Given the description of an element on the screen output the (x, y) to click on. 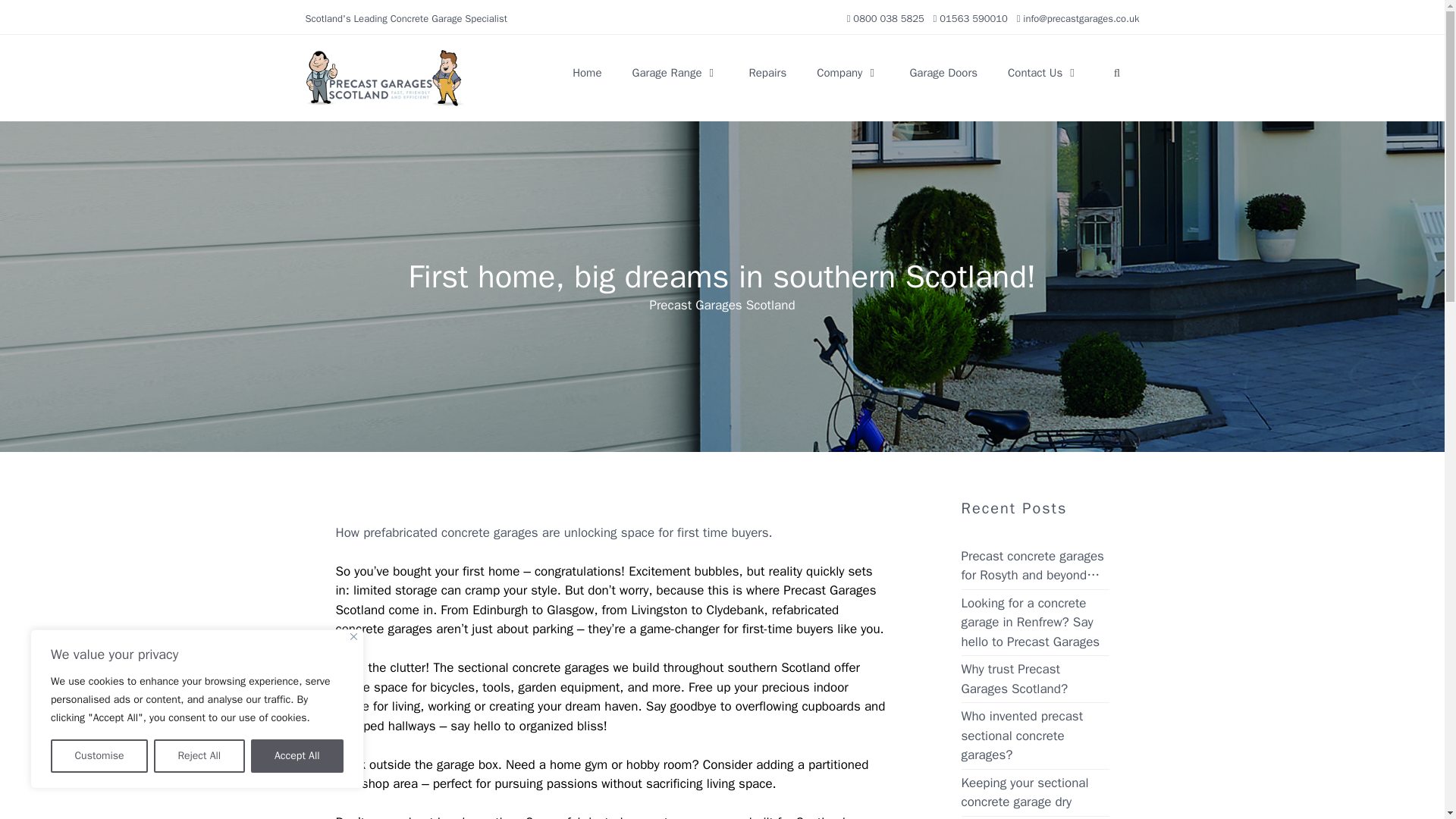
0800 038 5825 (888, 18)
01563 590010 (973, 18)
Garage Range (675, 72)
Home (586, 72)
Customise (99, 756)
Accept All (296, 756)
Reject All (199, 756)
Repairs (767, 72)
Company (847, 72)
